Given the description of an element on the screen output the (x, y) to click on. 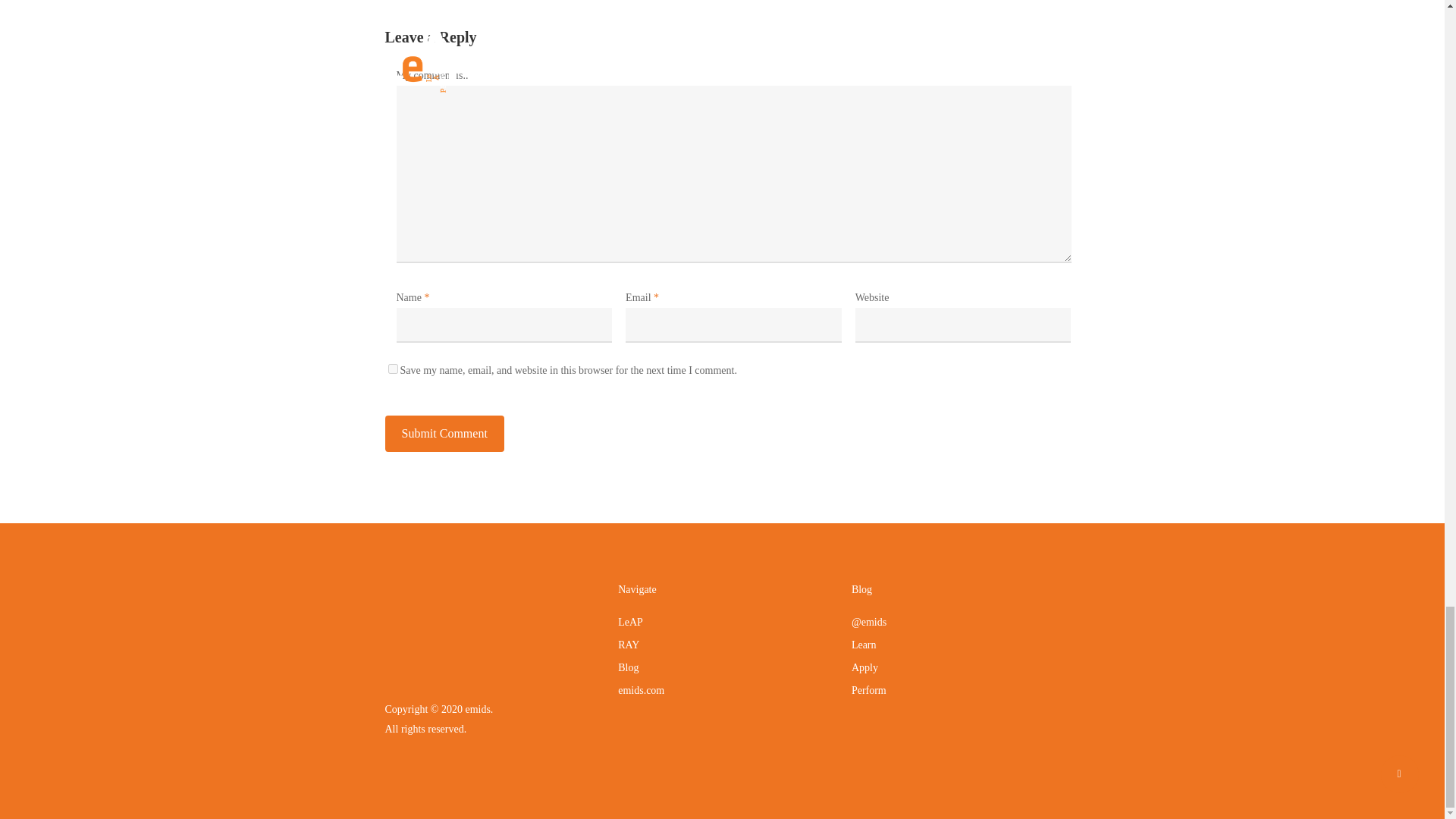
Submit Comment (444, 433)
yes (392, 368)
Submit Comment (444, 433)
